Given the description of an element on the screen output the (x, y) to click on. 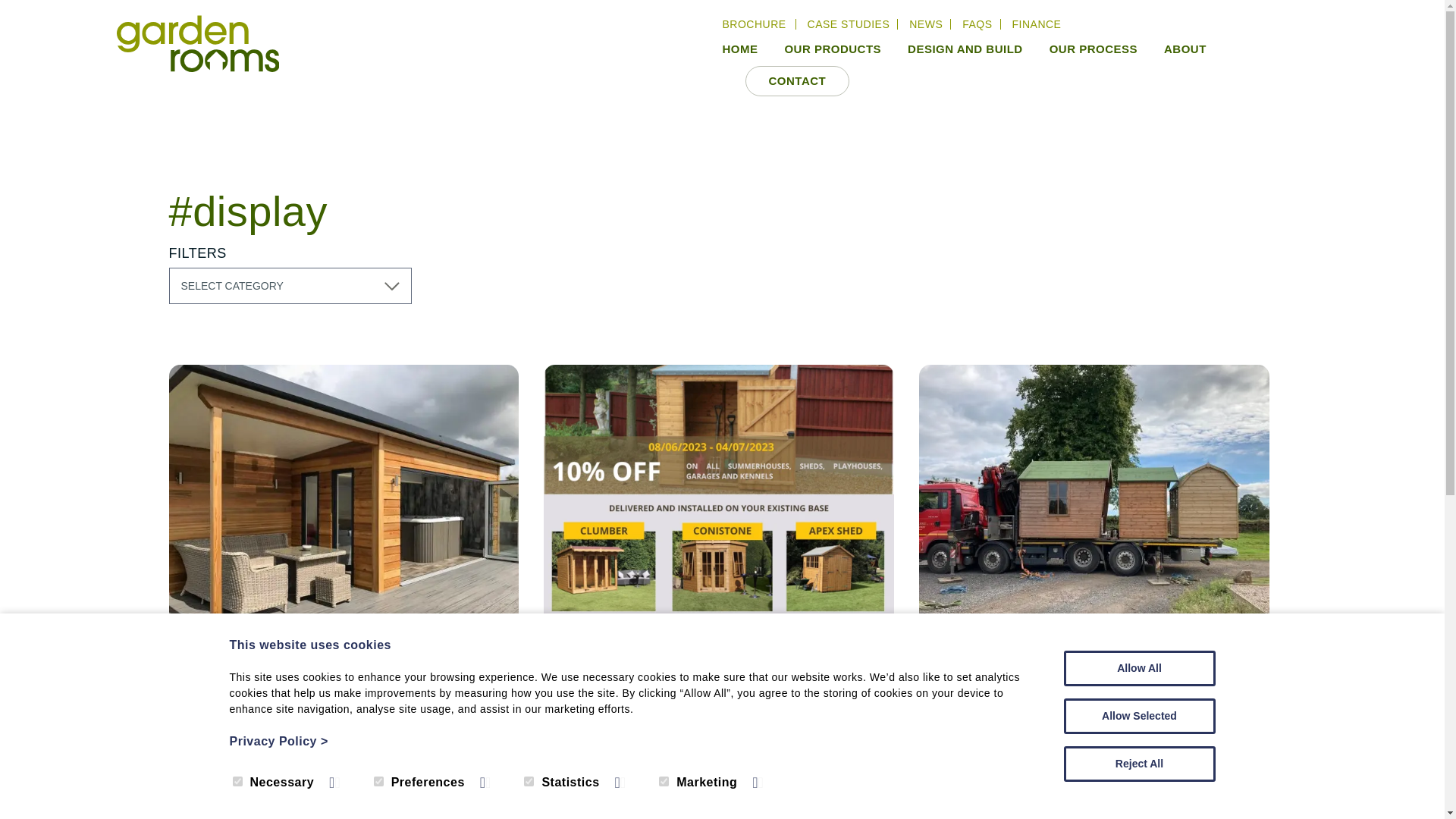
BROCHURE (758, 23)
marketing (663, 781)
CONTACT (796, 80)
OUR PRODUCTS (820, 49)
FINANCE (1036, 23)
HOME (739, 49)
DESIGN AND BUILD (954, 49)
ABOUT (1174, 49)
statistics (529, 781)
necessary (236, 781)
Garden Rooms Scotland (197, 45)
CASE STUDIES (848, 23)
NEWS (925, 23)
OUR PROCESS (1081, 49)
preferences (379, 781)
